Given the description of an element on the screen output the (x, y) to click on. 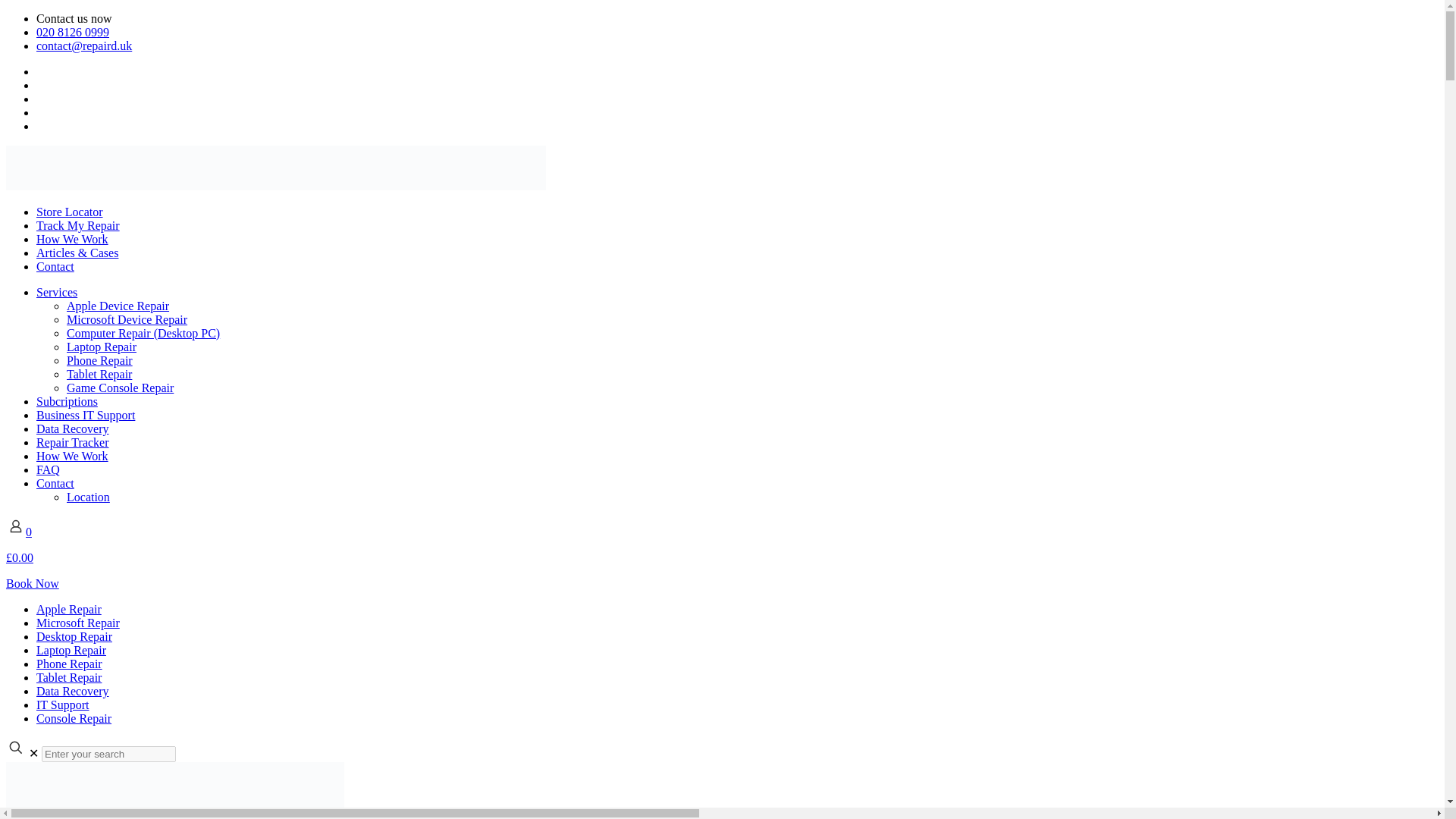
Tablet Repair (68, 676)
Data Recovery (72, 690)
How We Work (71, 238)
Apple Repair (68, 608)
Apple Device Repair (117, 305)
Repaird (275, 185)
FAQ (47, 469)
Laptop Repair (71, 649)
Microsoft Device Repair (126, 318)
Track My Repair (77, 225)
Phone Repair (68, 663)
Laptop Repair (101, 346)
Location (88, 496)
Repair Tracker (72, 441)
Desktop Repair (74, 635)
